Given the description of an element on the screen output the (x, y) to click on. 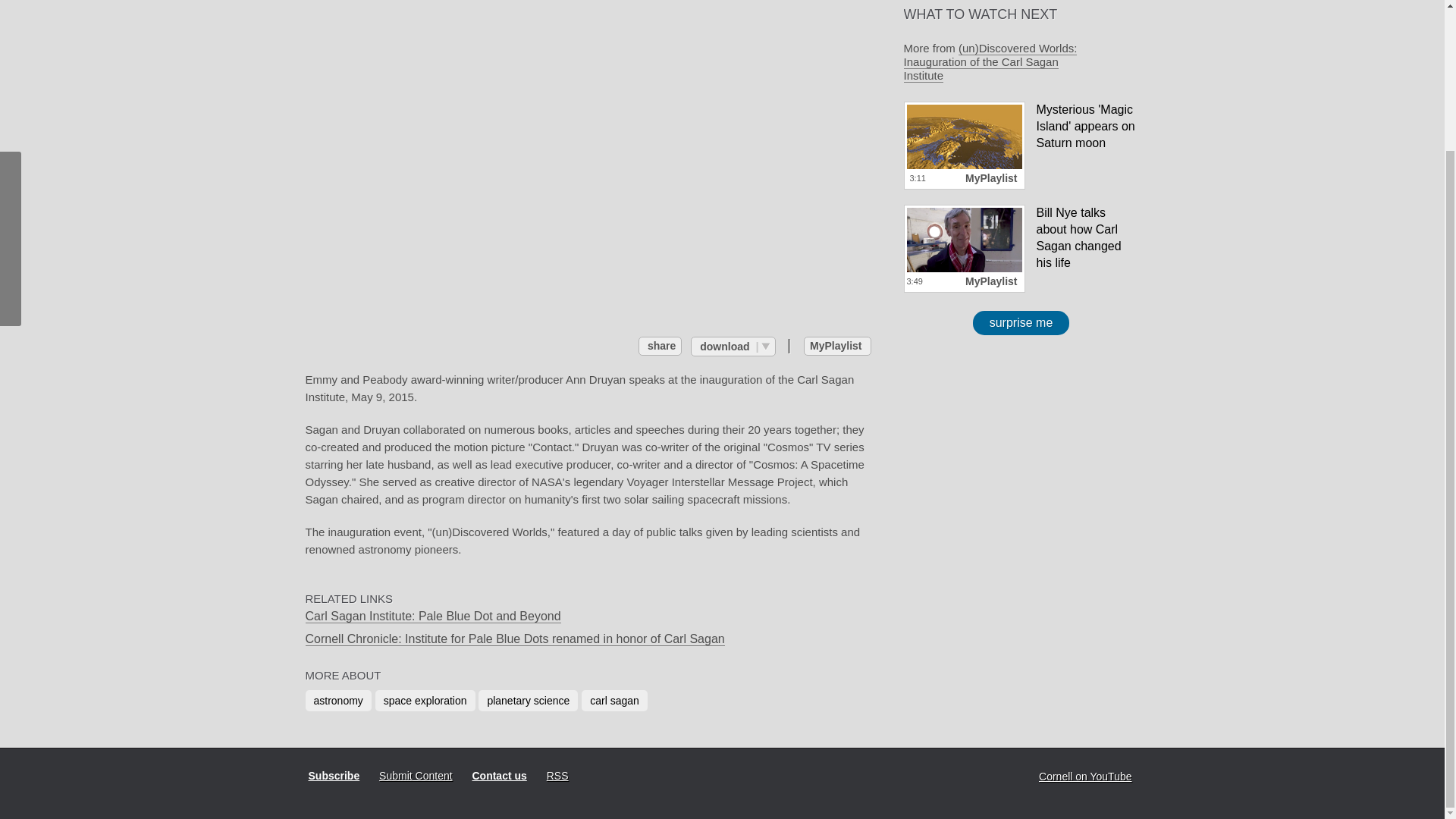
our RSS feed of most-recent items (556, 775)
Take a chance and see what you get... (1021, 322)
get weekly email updates (331, 776)
download (733, 345)
share (660, 345)
Find Cornell on YouTube (1083, 776)
MyPlaylist (836, 345)
submit content (413, 775)
contact us (496, 776)
Send (829, 139)
